Given the description of an element on the screen output the (x, y) to click on. 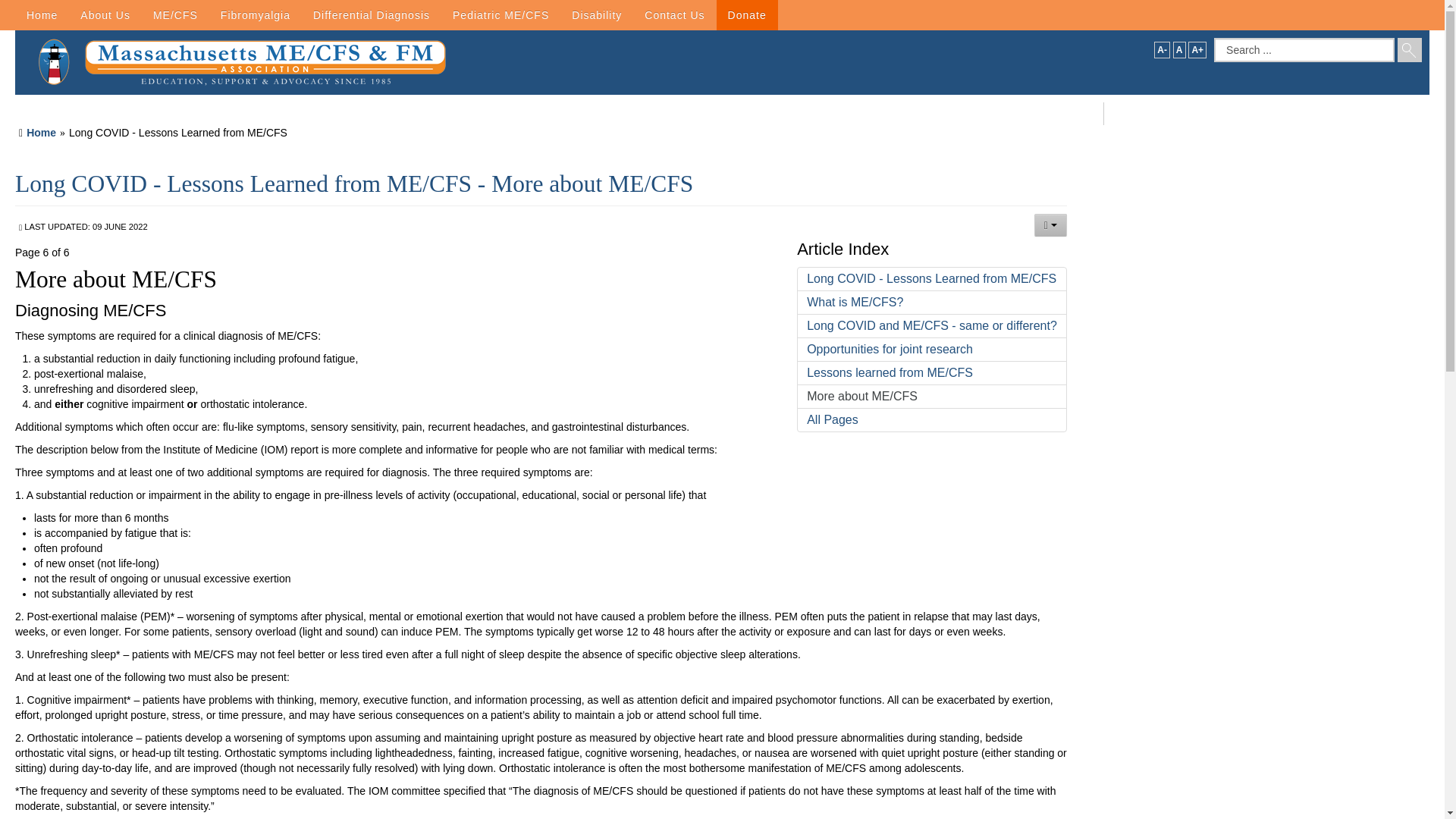
Search (1409, 49)
Home (41, 15)
Fibromyalgia (255, 15)
Opportunities for joint research (931, 349)
Search ... (1304, 49)
A- (1162, 49)
Disability (596, 15)
About Us (104, 15)
Contact Us (674, 15)
Home (41, 132)
Differential Diagnosis (371, 15)
Search ... (1304, 49)
Donate (746, 15)
All Pages (931, 419)
